Given the description of an element on the screen output the (x, y) to click on. 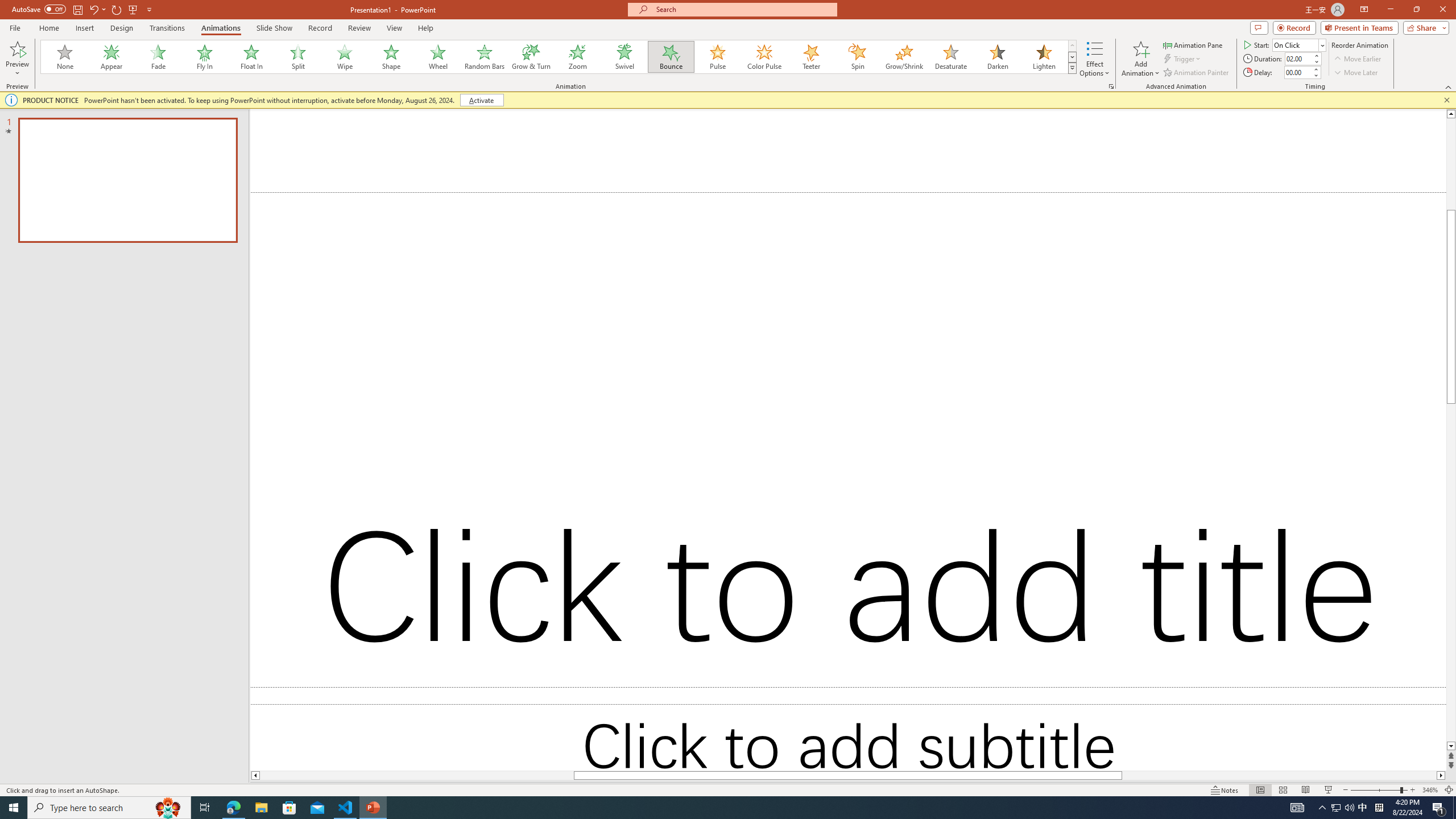
Save (77, 9)
Slide Show (273, 28)
Share (1423, 27)
Add Animation (1141, 58)
Ribbon Display Options (1364, 9)
Shape (391, 56)
Microsoft search (742, 9)
Move Earlier (1357, 58)
Transitions (167, 28)
Close this message (1446, 99)
Appear (111, 56)
Help (425, 28)
Preview (17, 48)
Zoom Out (1375, 790)
Spin (857, 56)
